Given the description of an element on the screen output the (x, y) to click on. 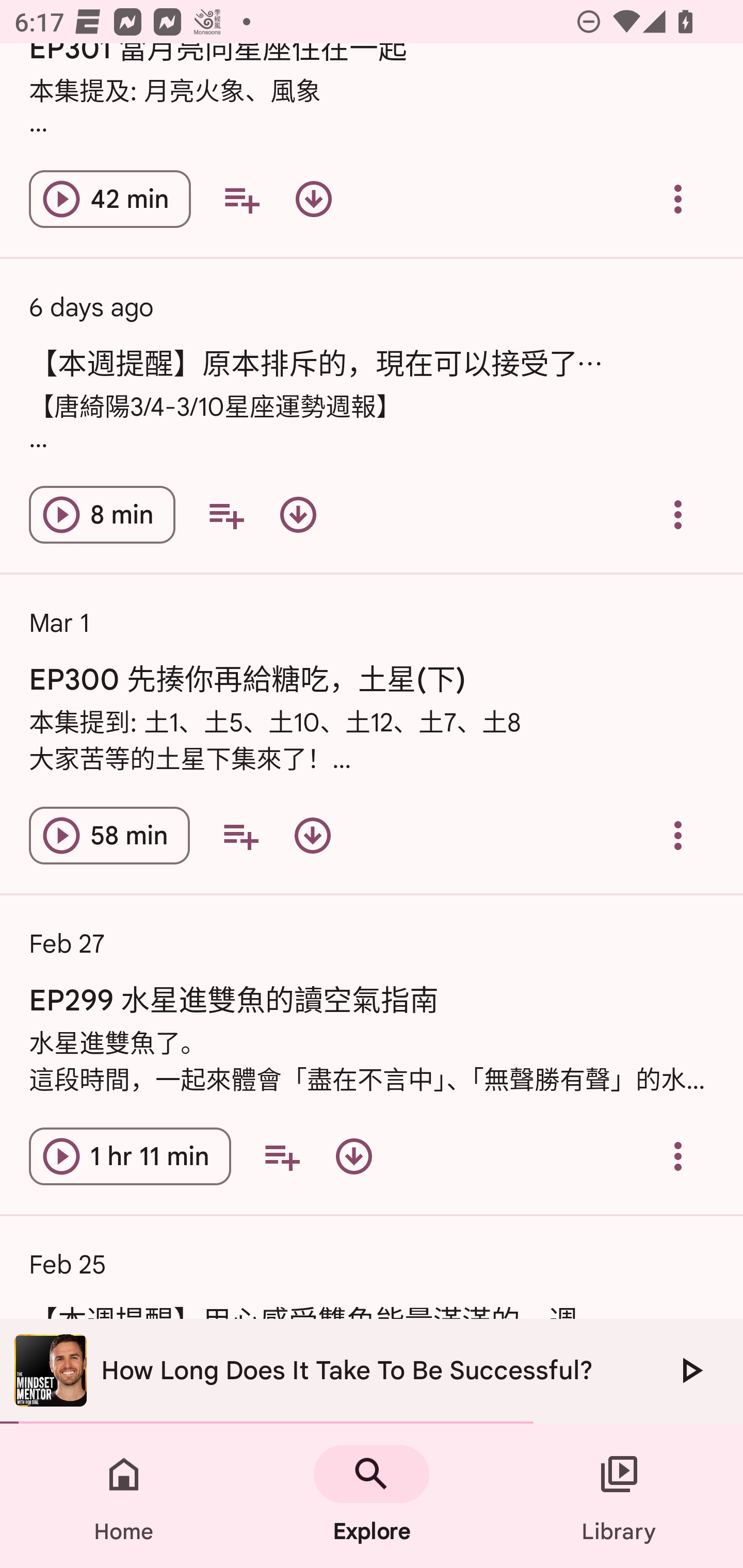
Play episode EP301 當月亮同星座住在一起 42 min (109, 199)
Add to your queue (241, 199)
Download episode (313, 199)
Overflow menu (677, 199)
Play episode 【本週提醒】原本排斥的，現在可以接受了⋯ 8 min (101, 514)
Add to your queue (226, 514)
Download episode (298, 514)
Overflow menu (677, 514)
Play episode EP300 先揍你再給糖吃，土星(下) 58 min (109, 835)
Add to your queue (240, 835)
Download episode (312, 835)
Overflow menu (677, 835)
Play episode EP299 水星進雙魚的讀空氣指南 1 hr 11 min (129, 1156)
Add to your queue (281, 1156)
Download episode (354, 1156)
Overflow menu (677, 1156)
Play (690, 1370)
Home (123, 1495)
Library (619, 1495)
